Given the description of an element on the screen output the (x, y) to click on. 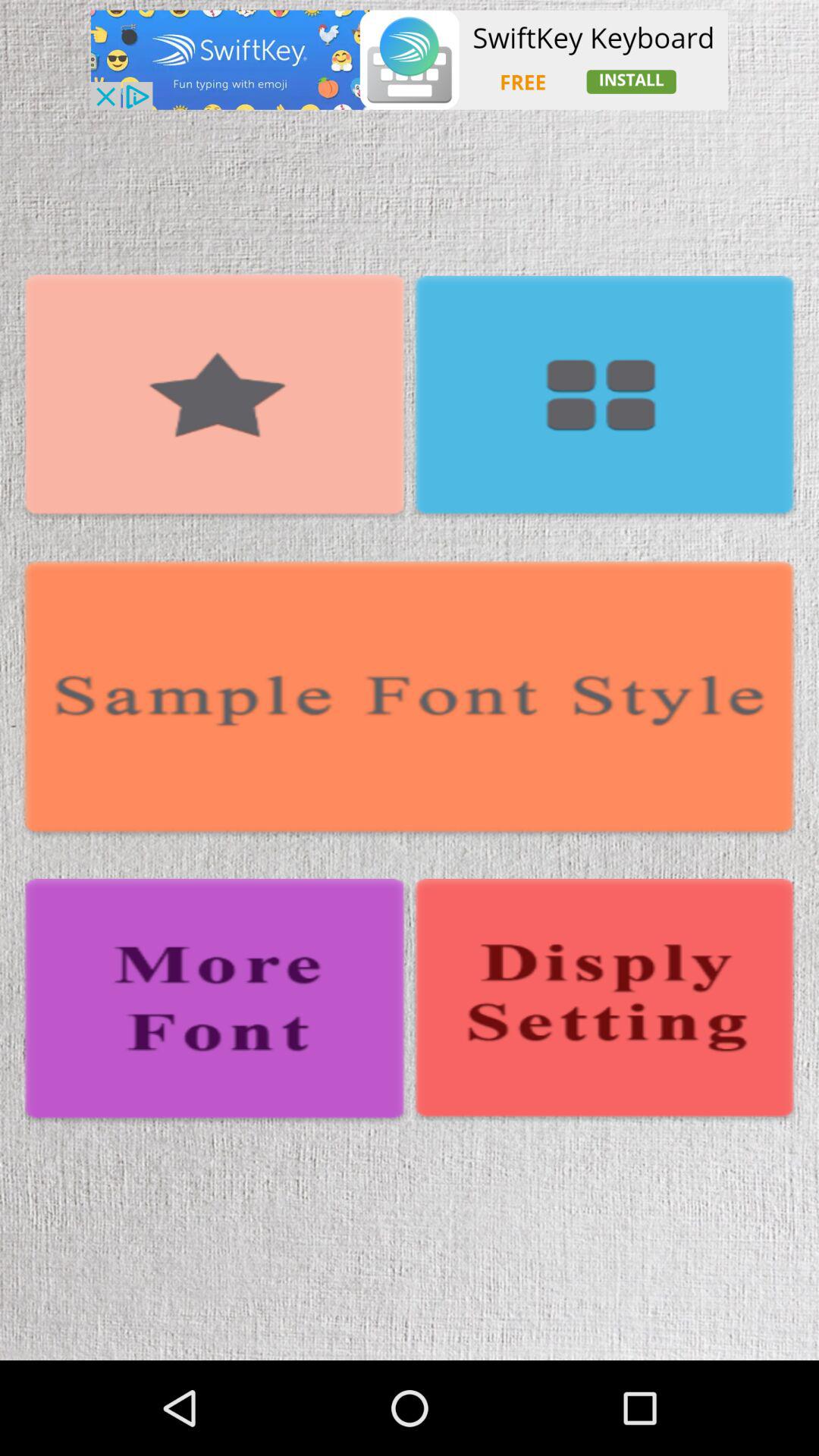
star (214, 397)
